Given the description of an element on the screen output the (x, y) to click on. 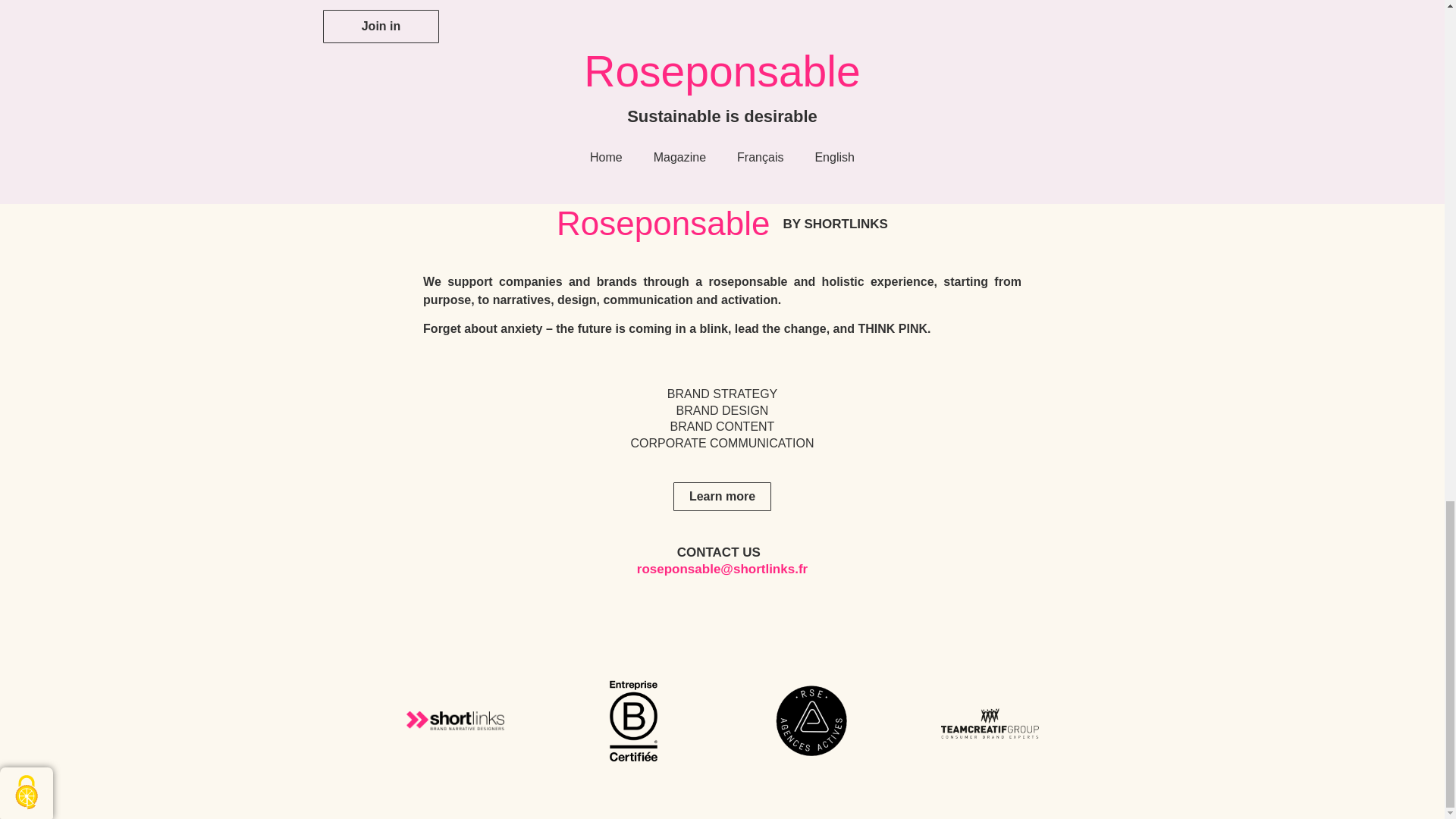
LESS BAD VS. MORE GOOD (971, 3)
BULK BUYING UNPACKED (714, 3)
Bulk buying unpacked (714, 3)
Less bad vs. more good (971, 3)
Learn more (721, 496)
